Given the description of an element on the screen output the (x, y) to click on. 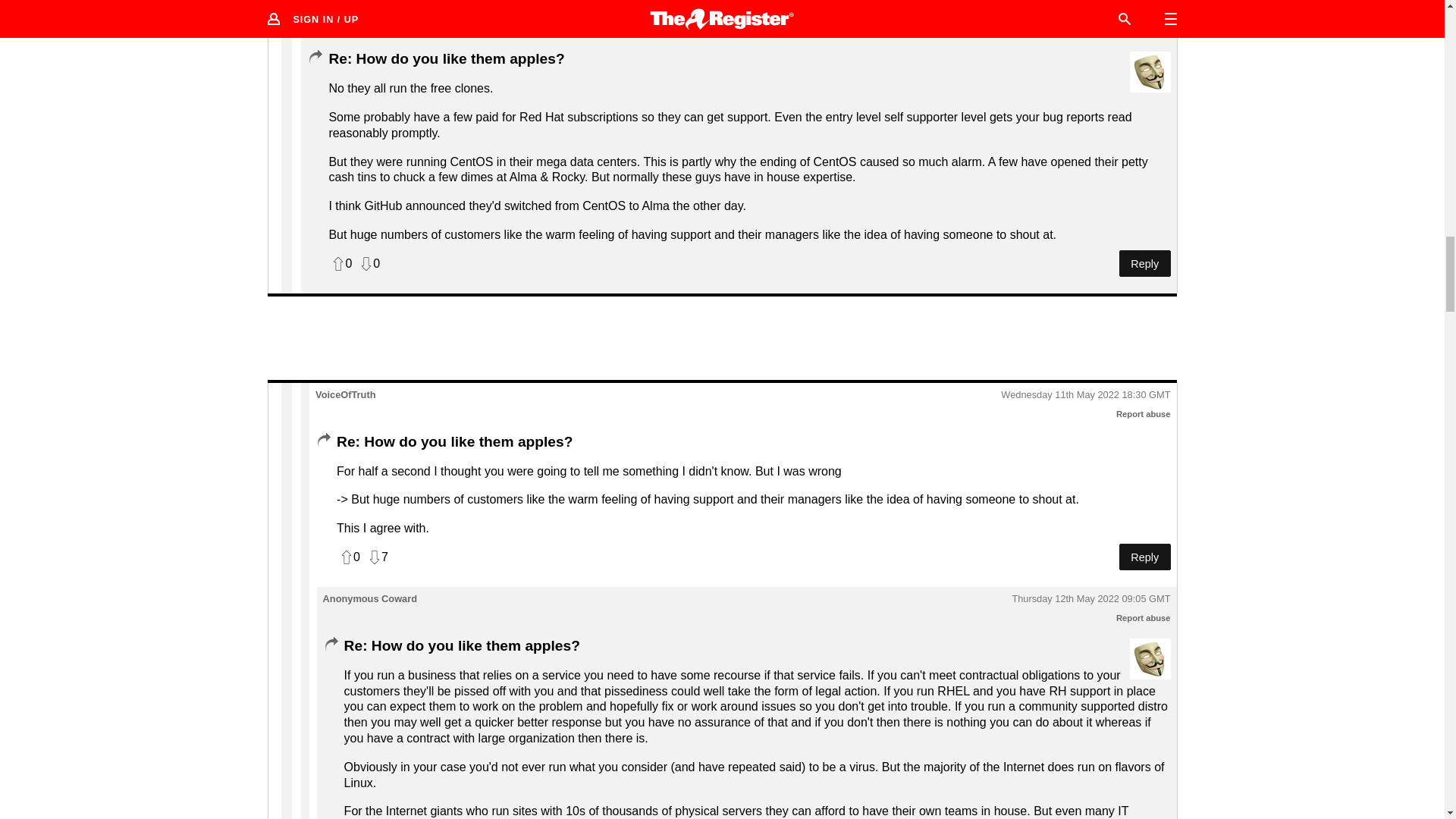
Report abuse (1143, 617)
Report abuse (1143, 413)
Report abuse (1143, 31)
